Given the description of an element on the screen output the (x, y) to click on. 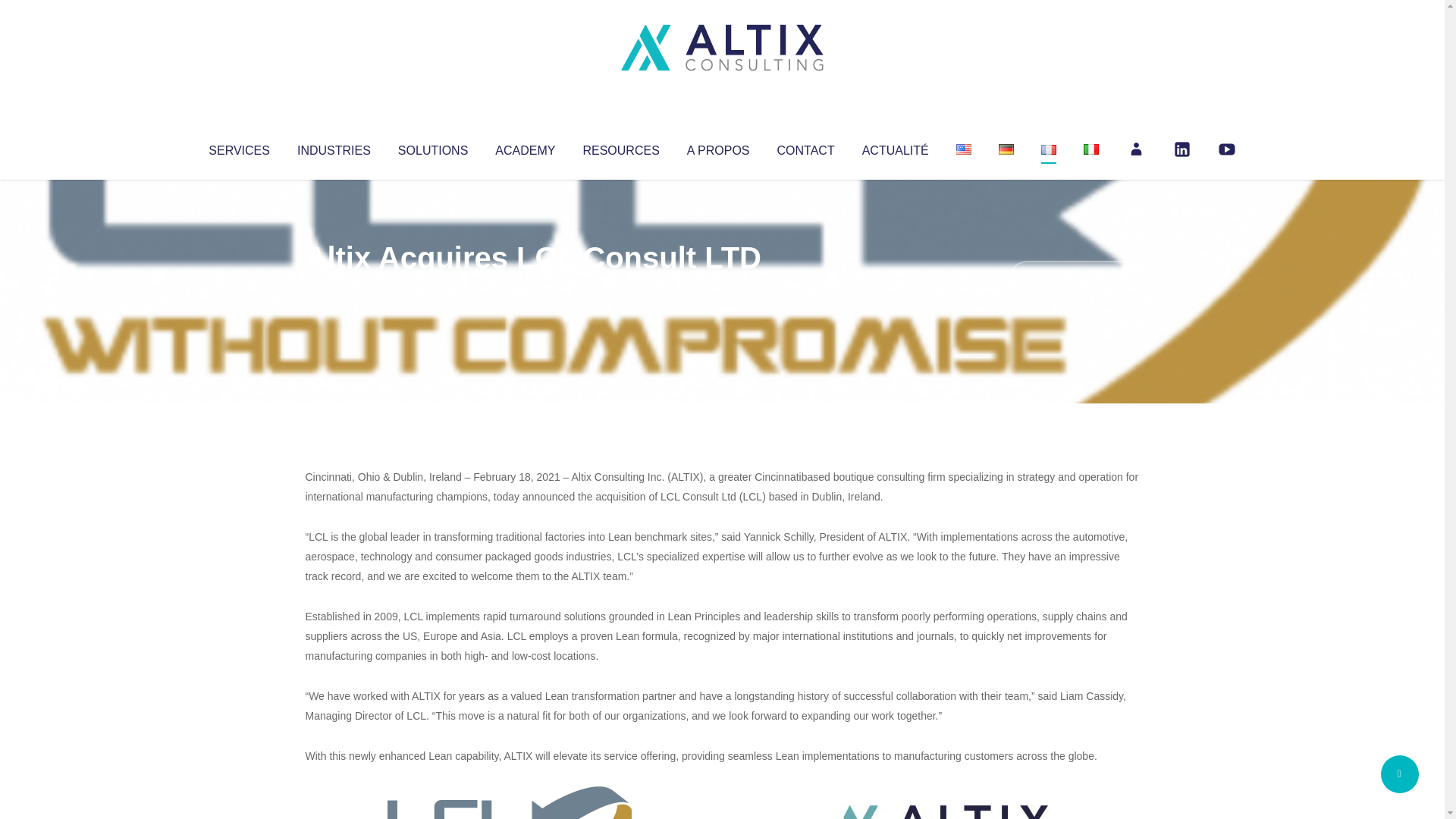
Articles par Altix (333, 287)
Uncategorized (530, 287)
SOLUTIONS (432, 146)
A PROPOS (718, 146)
No Comments (1073, 278)
ACADEMY (524, 146)
SERVICES (238, 146)
RESOURCES (620, 146)
Altix (333, 287)
INDUSTRIES (334, 146)
